Given the description of an element on the screen output the (x, y) to click on. 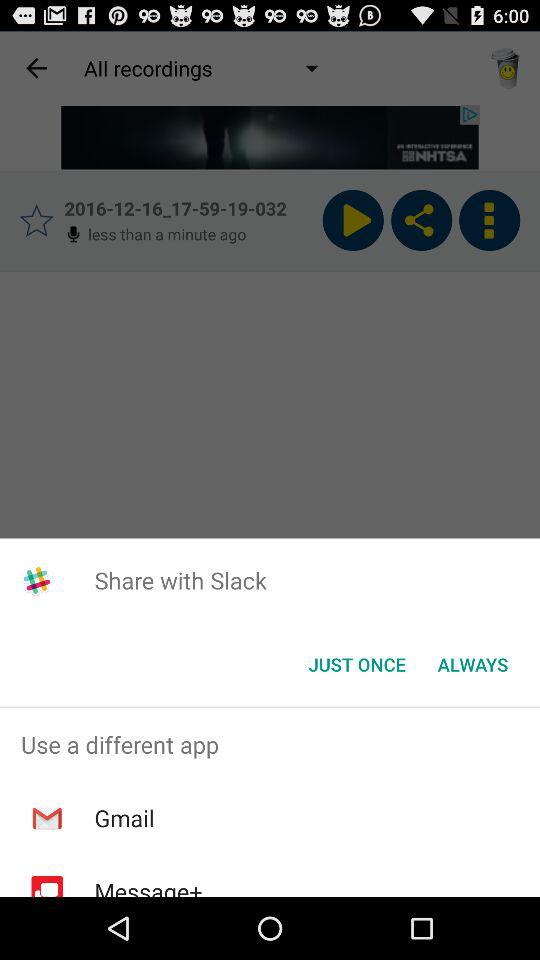
tap just once item (356, 664)
